Given the description of an element on the screen output the (x, y) to click on. 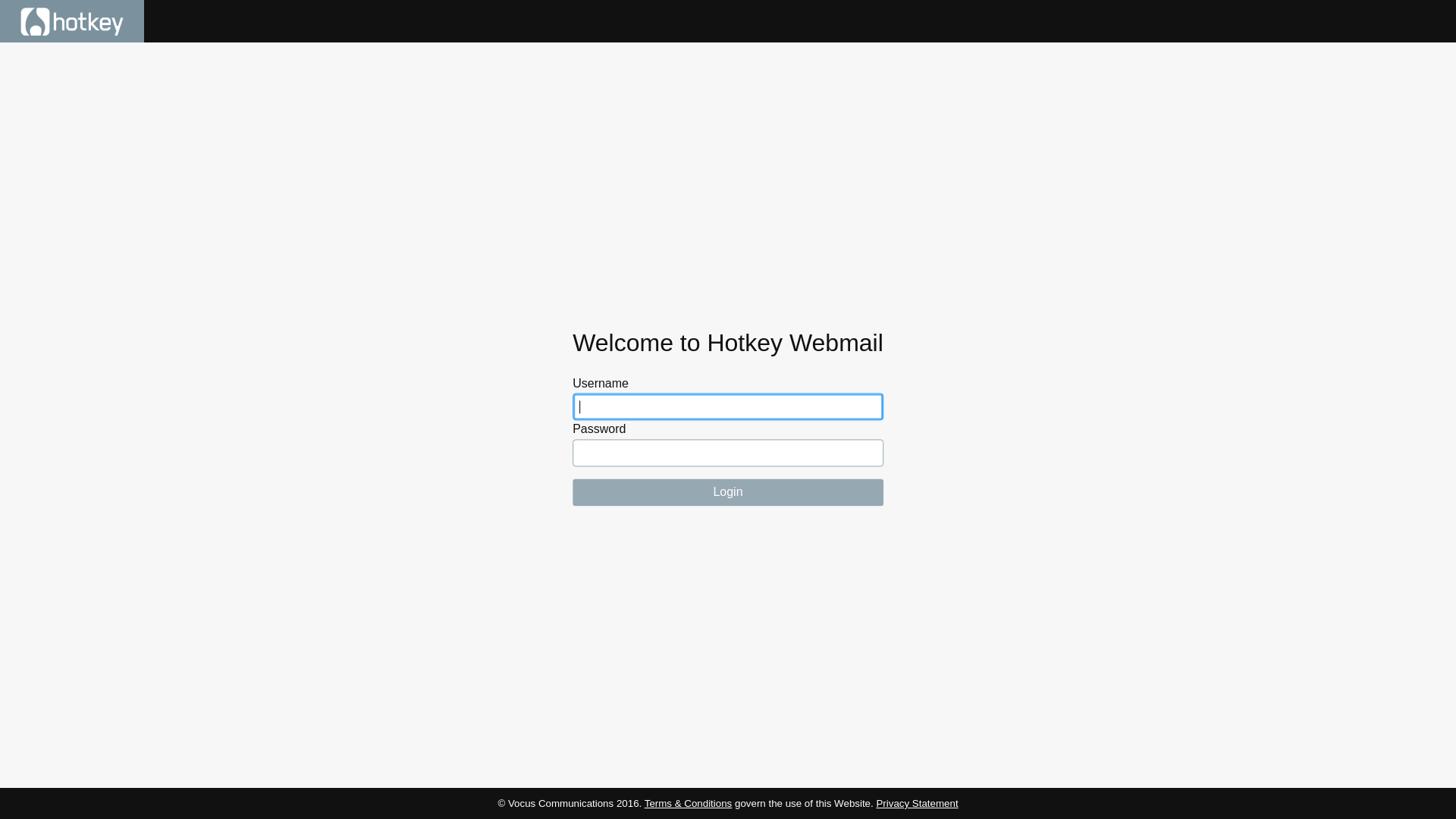
Terms & Conditions Element type: text (688, 803)
Login Element type: text (727, 492)
Privacy Statement Element type: text (916, 803)
